Given the description of an element on the screen output the (x, y) to click on. 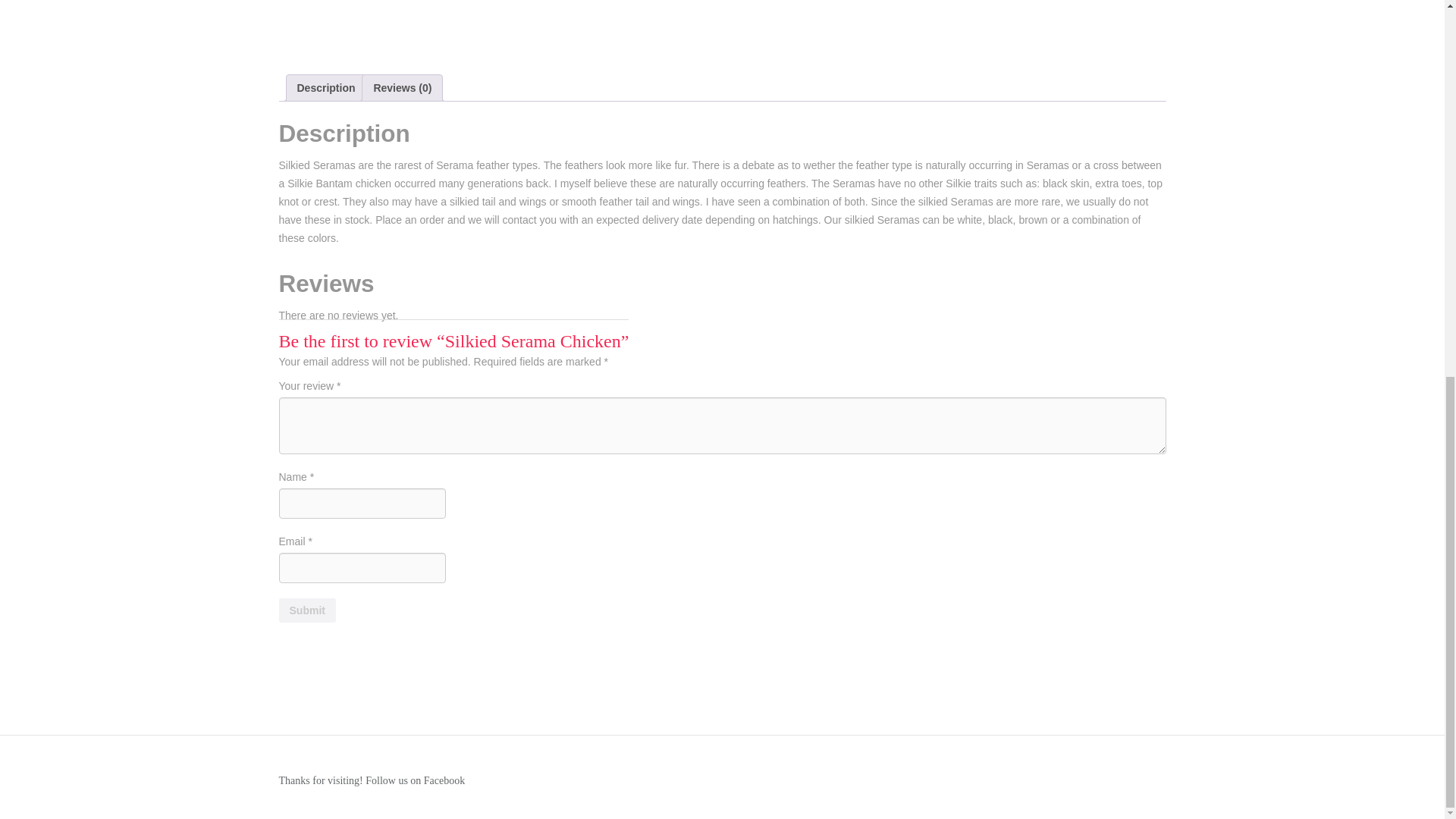
Submit (307, 609)
Description (326, 87)
Submit (307, 609)
